Given the description of an element on the screen output the (x, y) to click on. 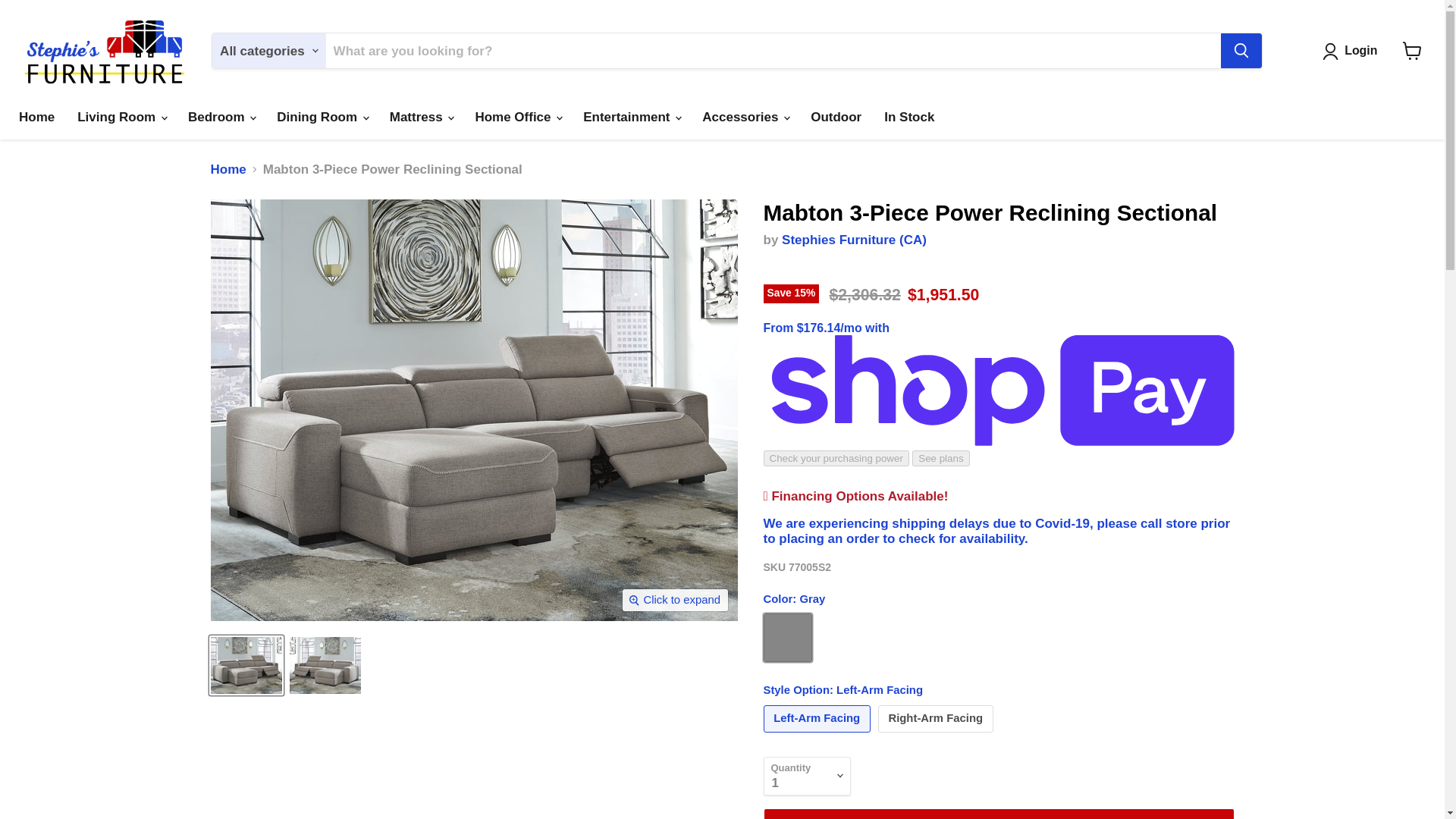
Living Room (120, 116)
Bedroom (220, 116)
Dining Room (320, 116)
View cart (1411, 50)
Login (1361, 51)
Home (36, 116)
